Given the description of an element on the screen output the (x, y) to click on. 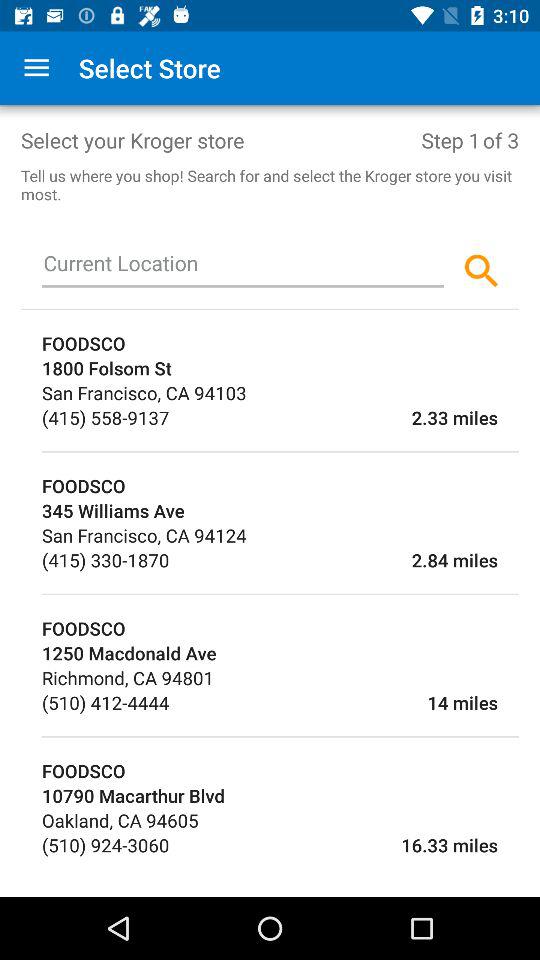
swipe until the (415) 330-1870 icon (105, 559)
